Given the description of an element on the screen output the (x, y) to click on. 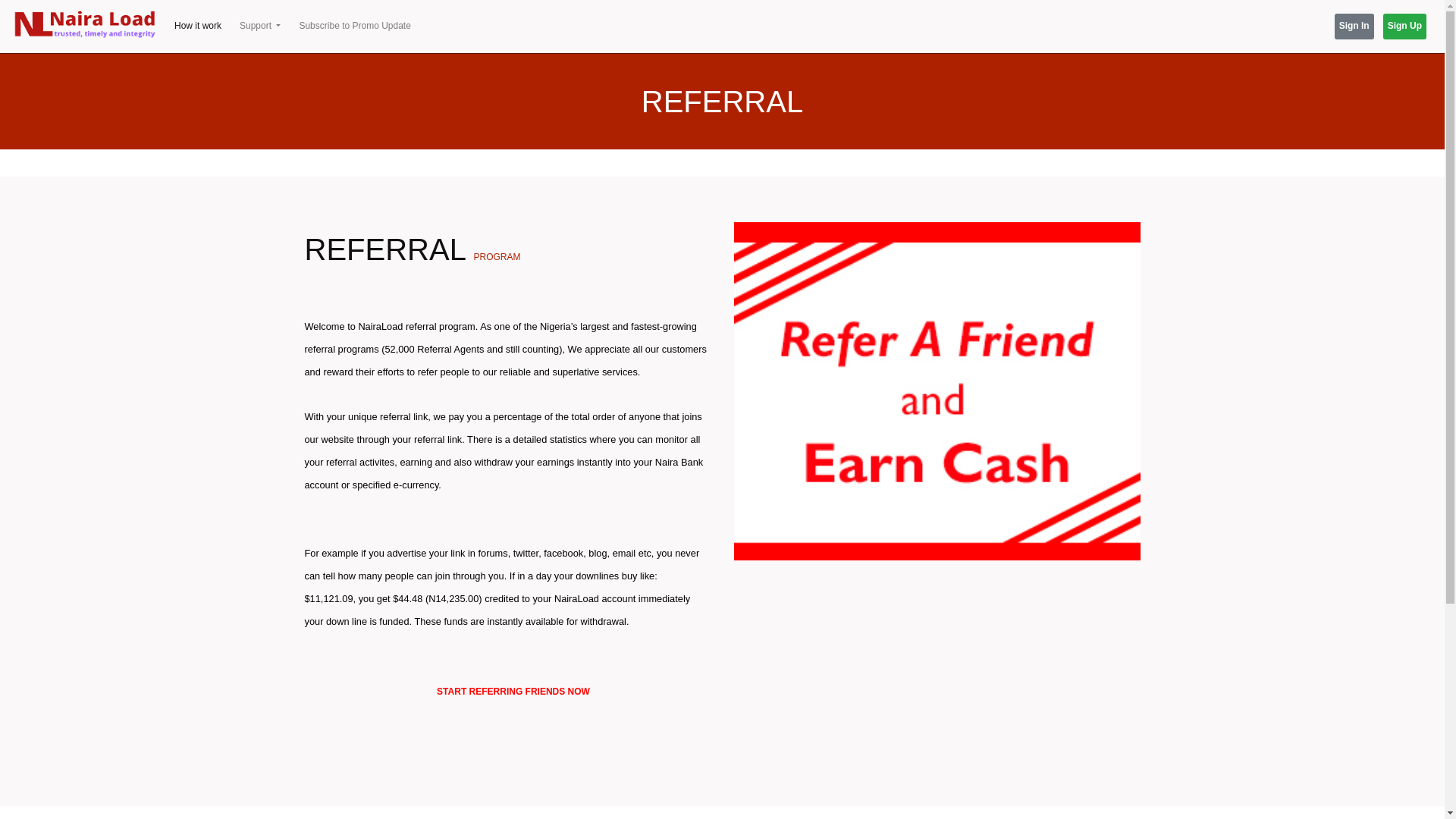
Subscribe to Promo Update (354, 26)
Sign Up (1404, 26)
START REFERRING FRIENDS NOW (512, 690)
Support (259, 26)
Sign In (1354, 26)
